Given the description of an element on the screen output the (x, y) to click on. 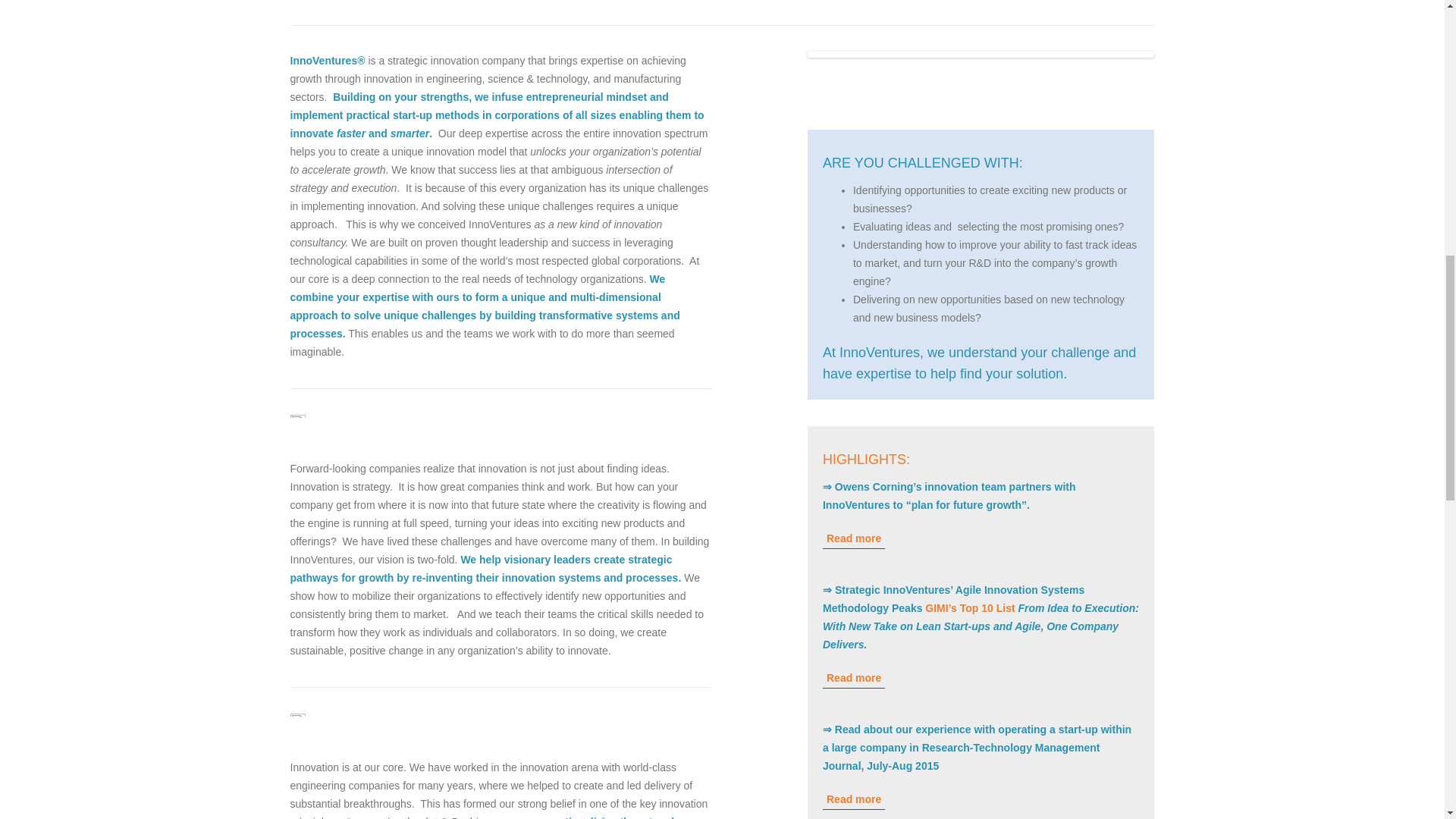
Read more (853, 538)
Read more (853, 678)
